Given the description of an element on the screen output the (x, y) to click on. 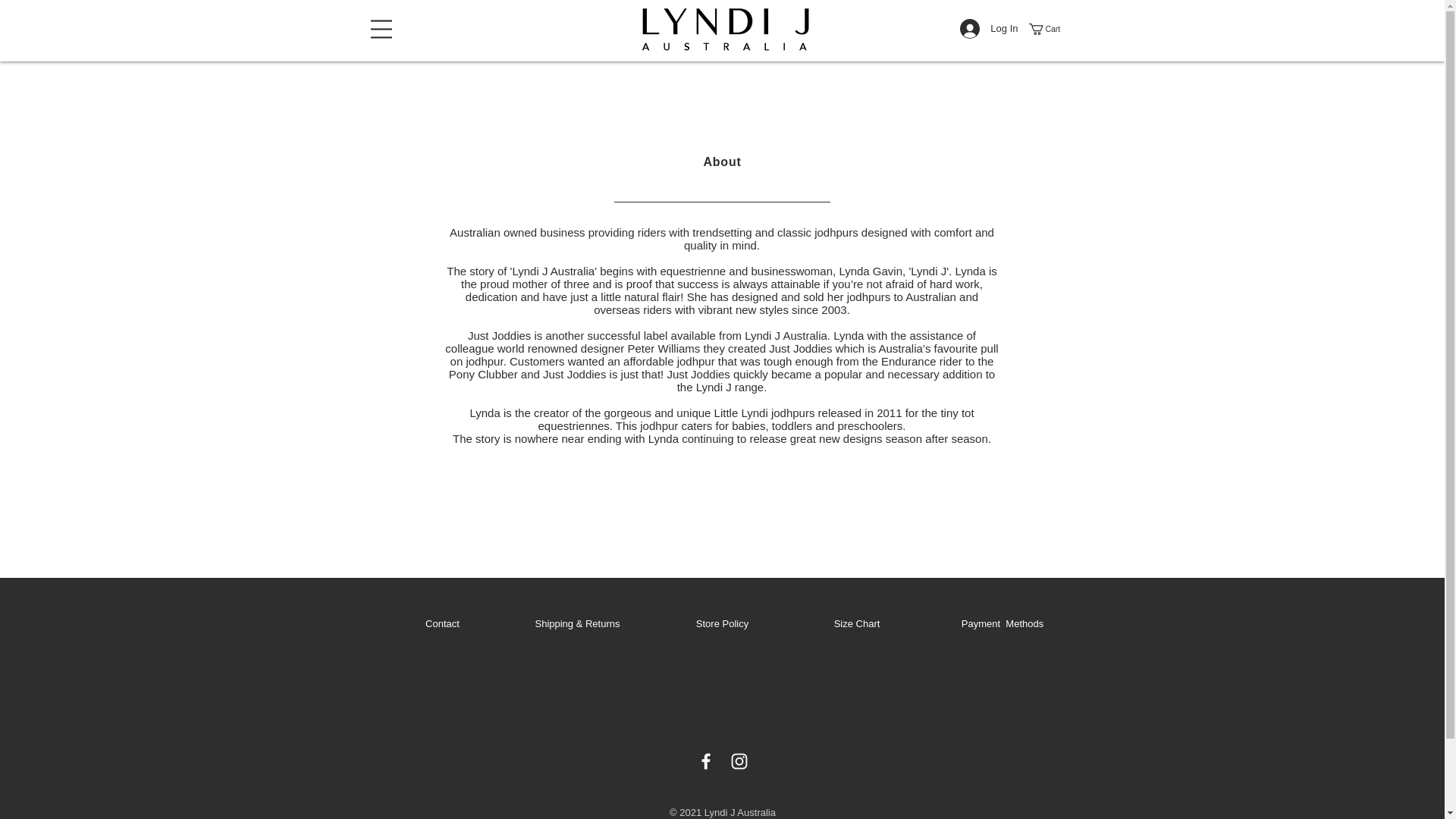
Size Chart (857, 623)
Cart (1050, 29)
Payment  Methods (1001, 623)
Store Policy (721, 623)
Cart (1050, 29)
Log In (988, 28)
Contact (442, 623)
